Given the description of an element on the screen output the (x, y) to click on. 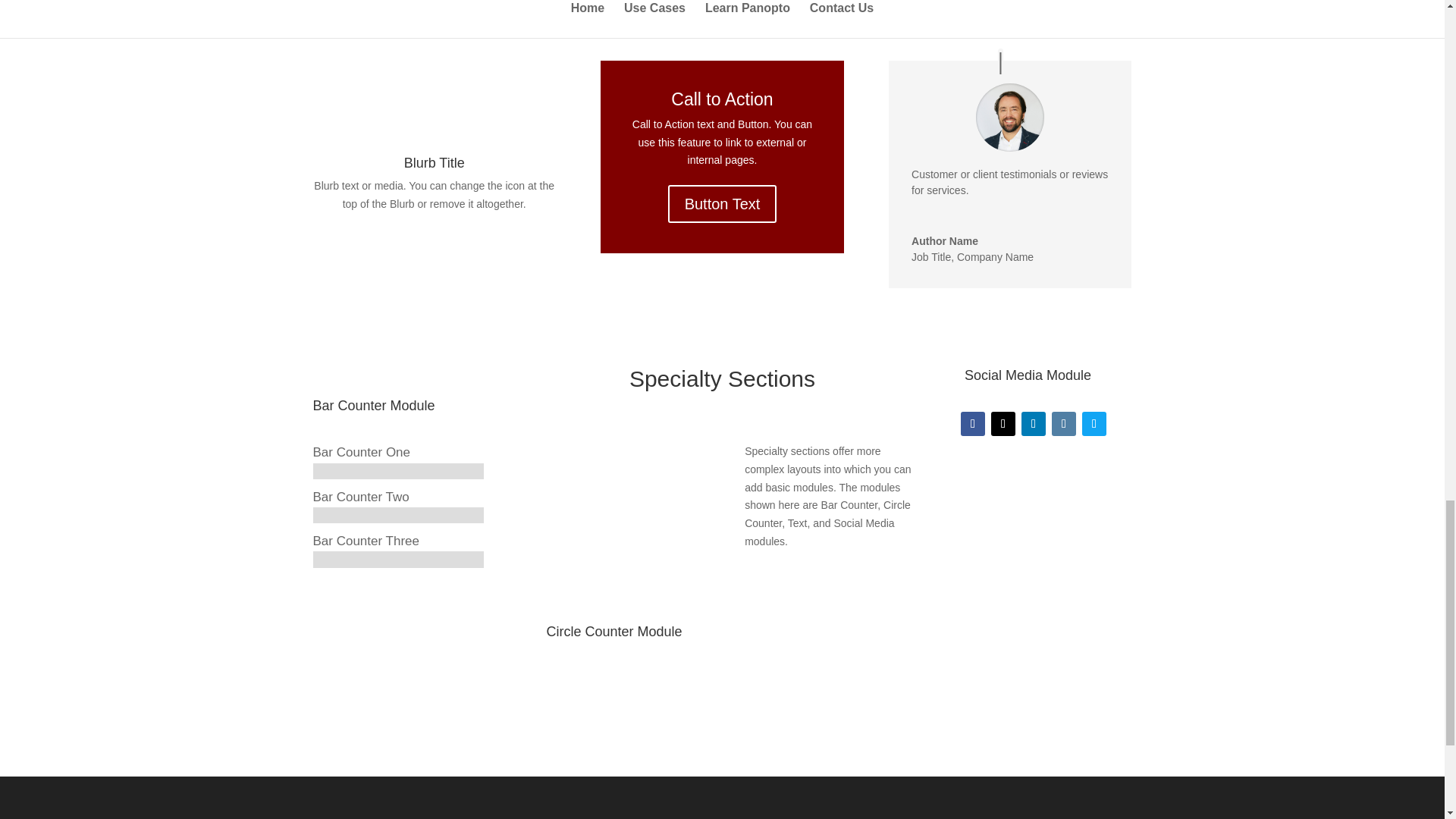
LinkedIn (1033, 423)
Instagram (1063, 423)
Follow on Instagram (1063, 423)
Skype (1093, 423)
Follow on X (1002, 423)
Button Text (722, 203)
Follow on skype (1093, 423)
Twitter (1002, 423)
Follow on LinkedIn (1033, 423)
Divi Sections (535, 1)
Rows (602, 1)
Facebook (972, 423)
Follow on Facebook (972, 423)
